Given the description of an element on the screen output the (x, y) to click on. 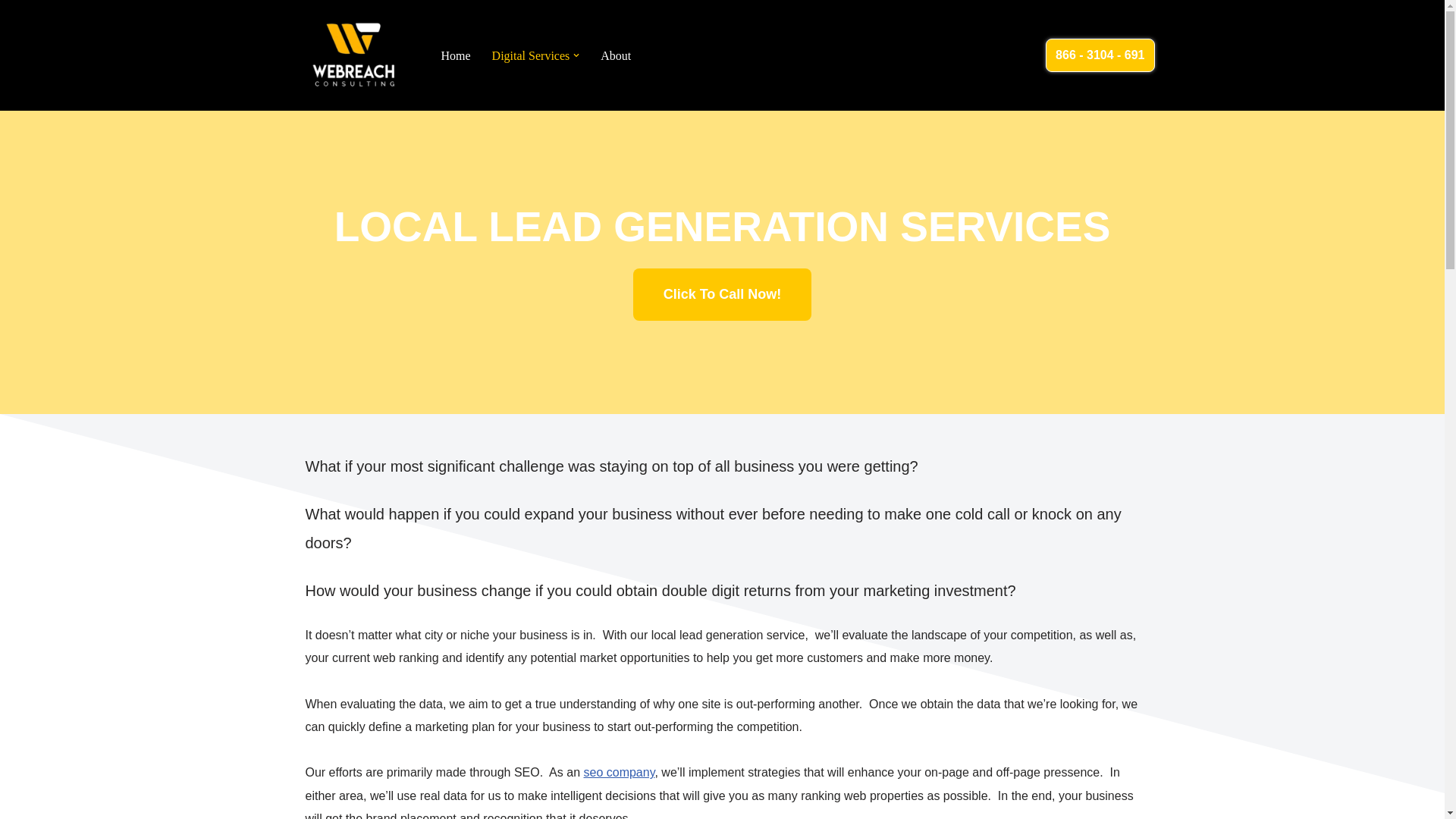
Digital Services (531, 55)
Home (455, 55)
seo company (618, 771)
866 - 3104 - 691 (1099, 55)
About (614, 55)
Skip to content (11, 31)
Click To Call Now! (722, 294)
